Given the description of an element on the screen output the (x, y) to click on. 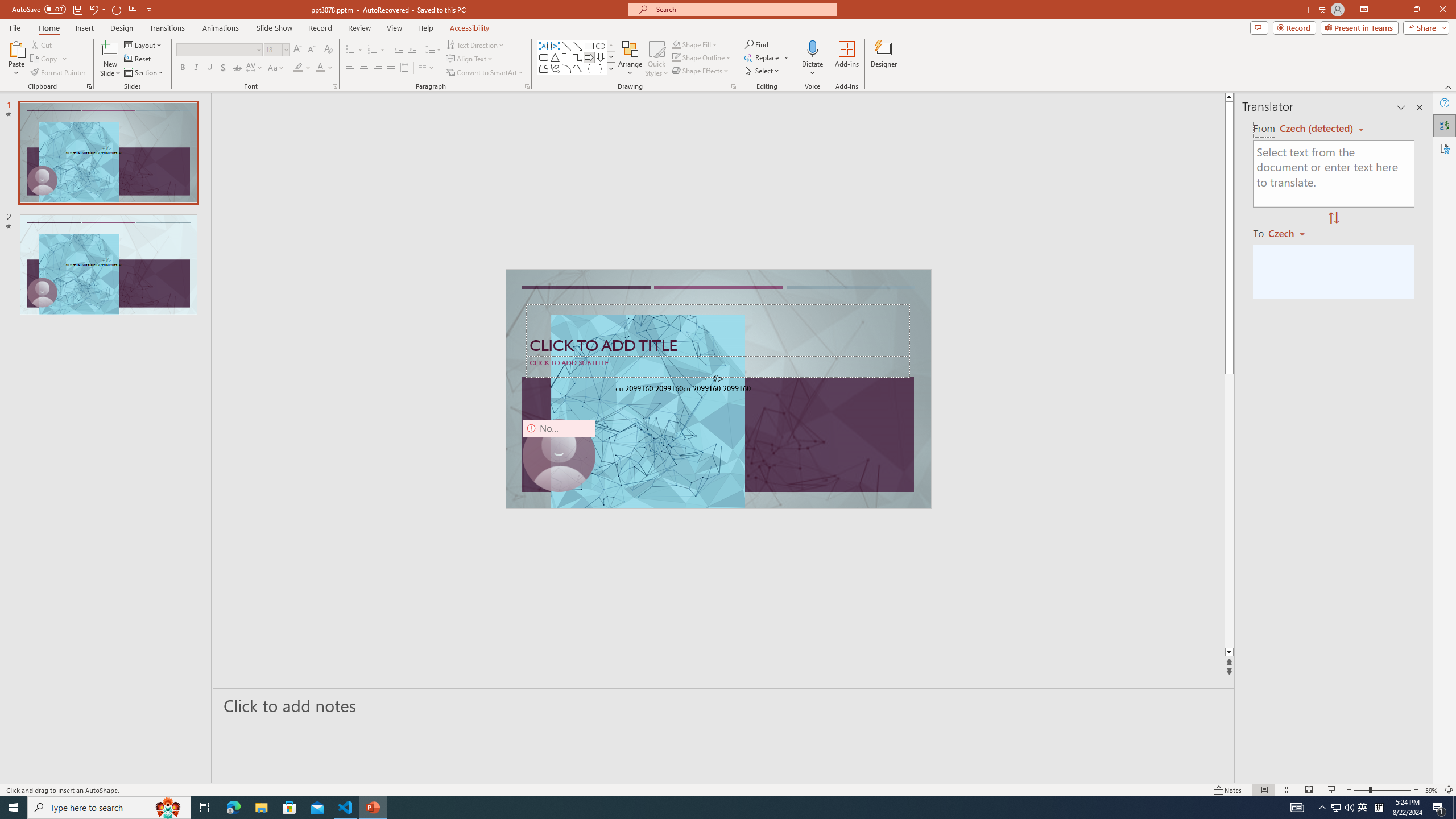
Shape Effects (700, 69)
TextBox 7 (713, 378)
